Given the description of an element on the screen output the (x, y) to click on. 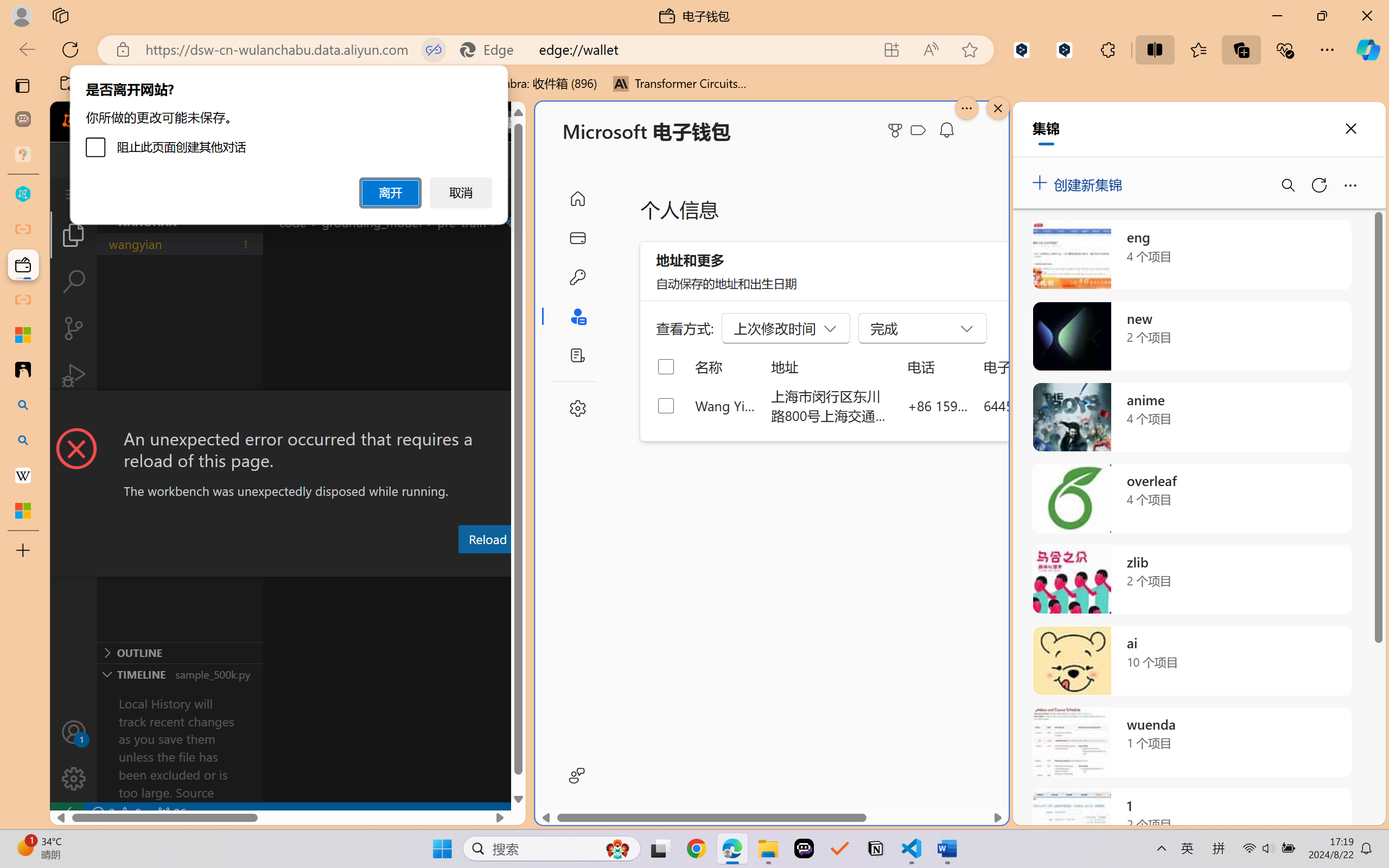
+86 159 0032 4640 (938, 405)
